Given the description of an element on the screen output the (x, y) to click on. 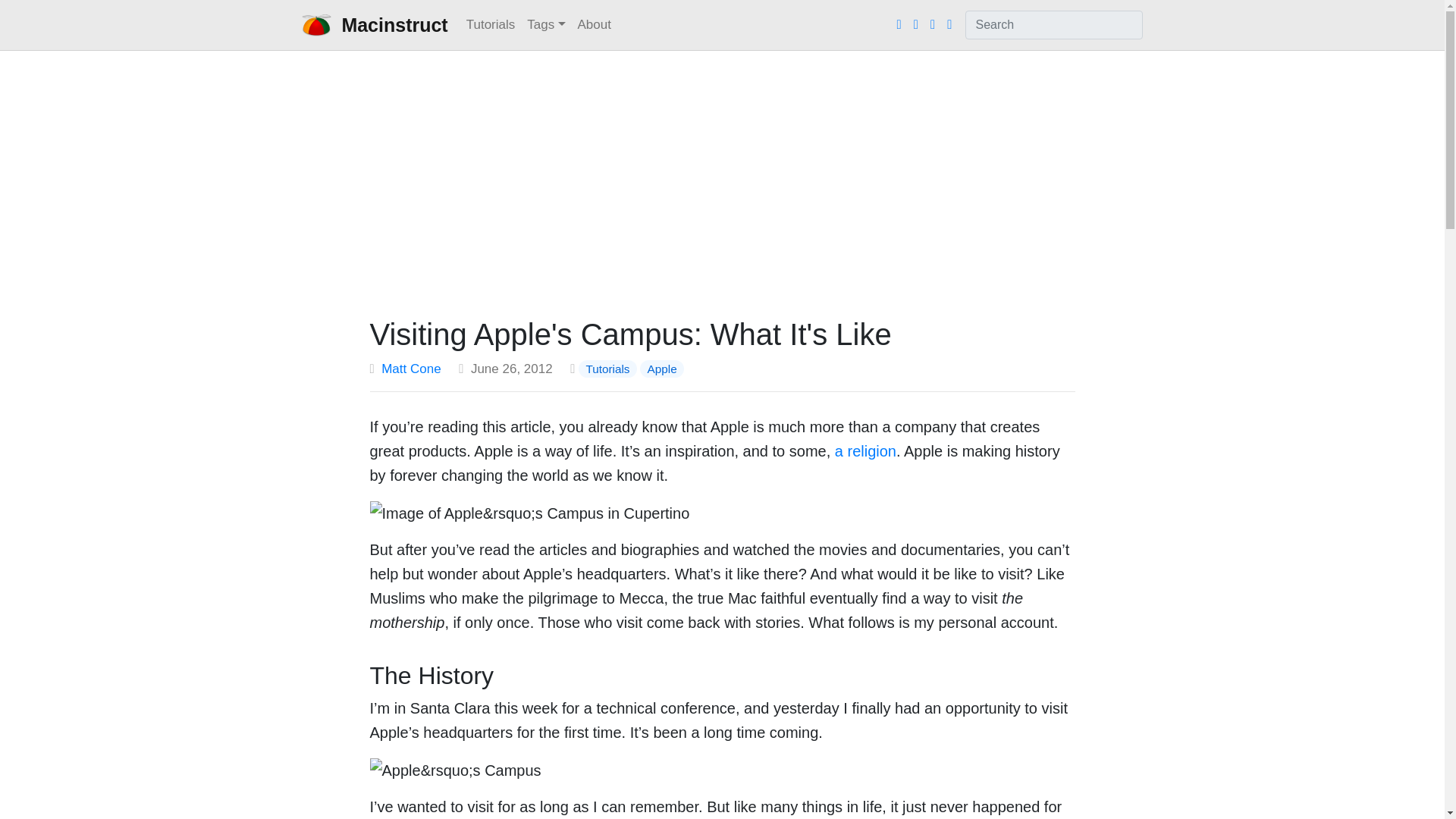
Tutorials (607, 368)
 Macinstruct (374, 24)
Apple (661, 368)
Matt Cone (411, 368)
Tutorials (490, 24)
About (594, 24)
Tags (545, 24)
a religion (865, 451)
